Given the description of an element on the screen output the (x, y) to click on. 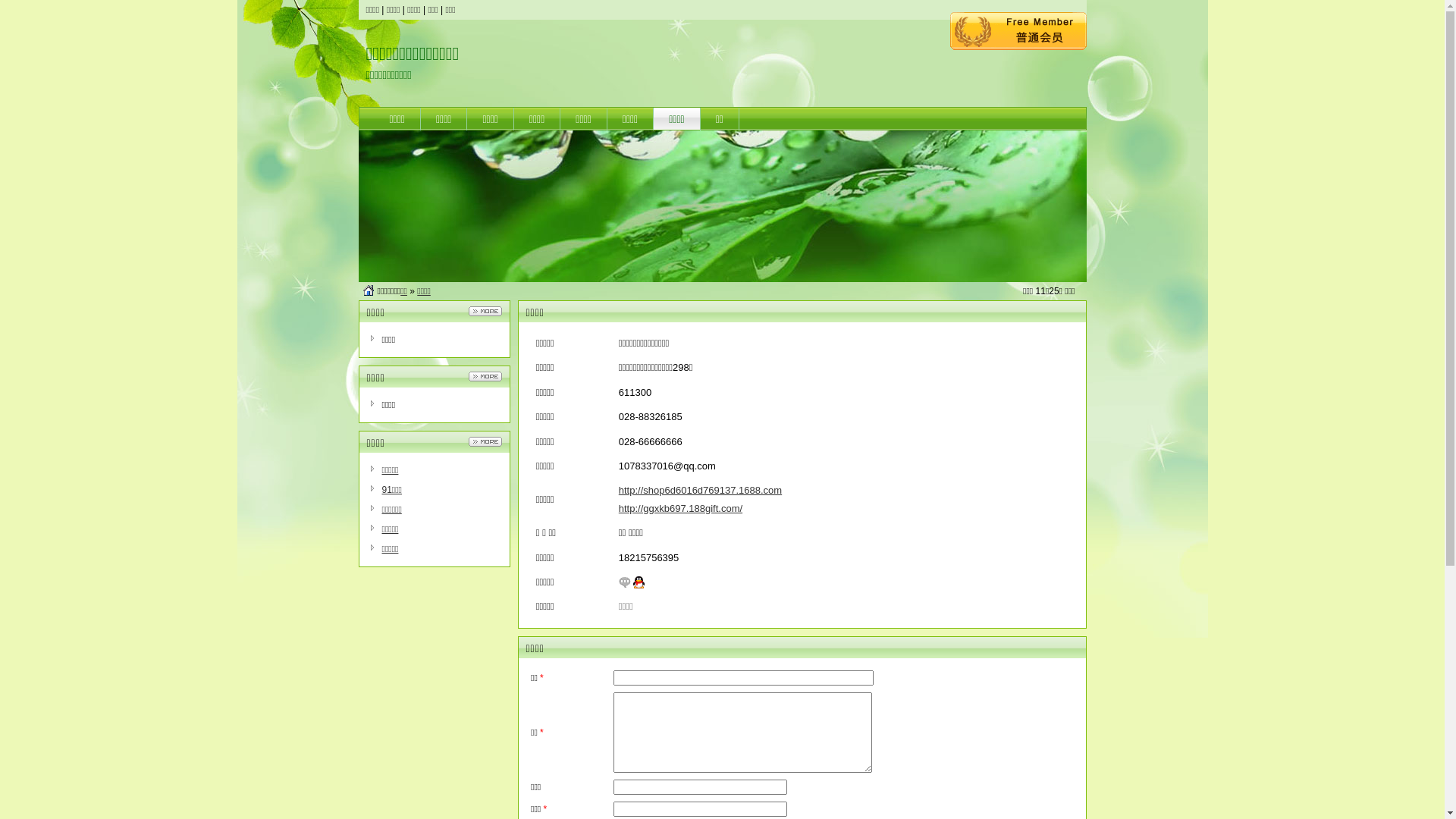
http://shop6d6016d769137.1688.com Element type: text (699, 489)
http://ggxkb697.188gift.com/ Element type: text (680, 508)
